Given the description of an element on the screen output the (x, y) to click on. 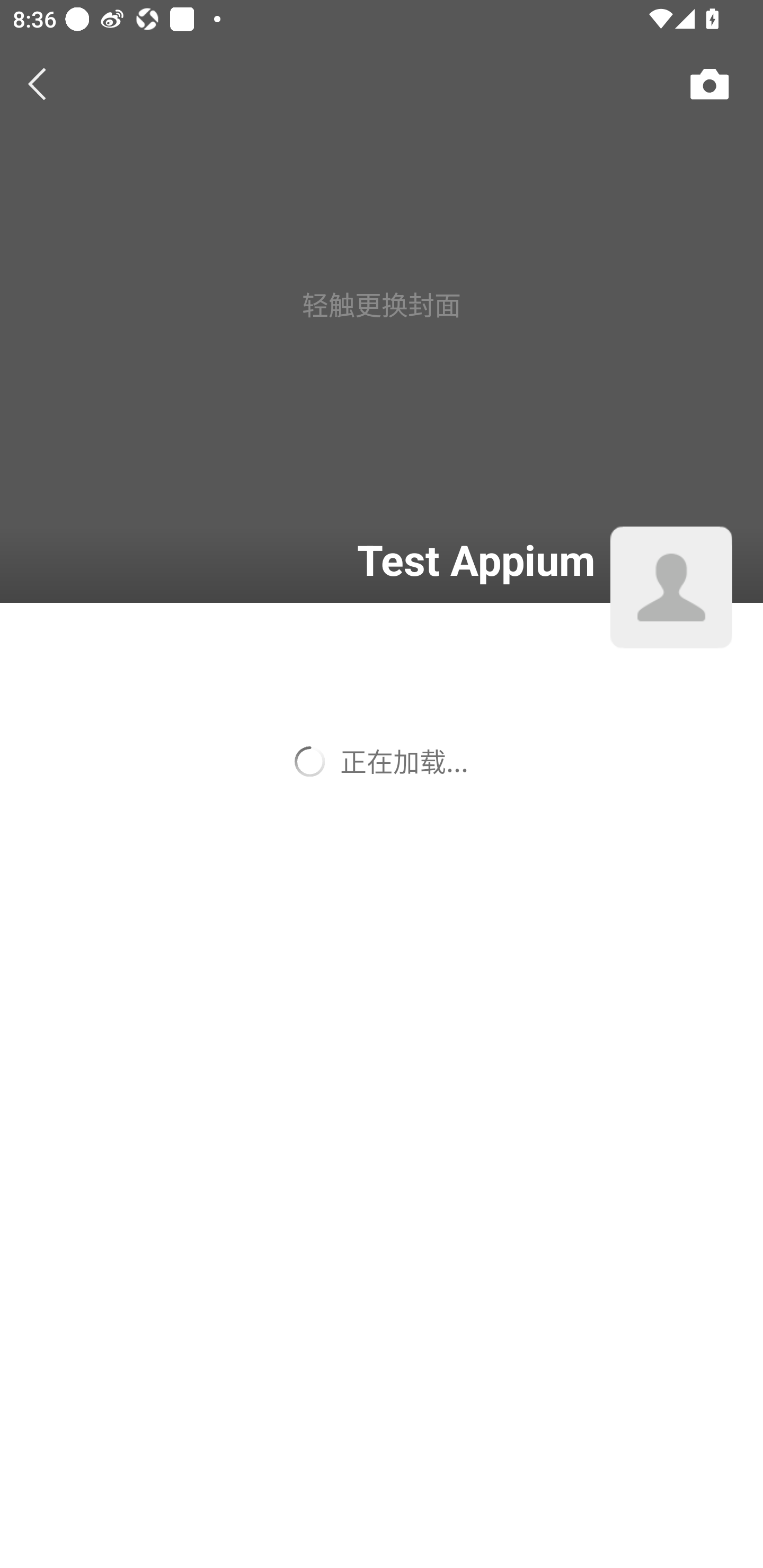
返回 (38, 83)
拍照分享 (709, 83)
Test Appium,我的头像,再点一次可以进入我的相册 (671, 587)
Test Appium (308, 559)
正在加载... (381, 760)
